Given the description of an element on the screen output the (x, y) to click on. 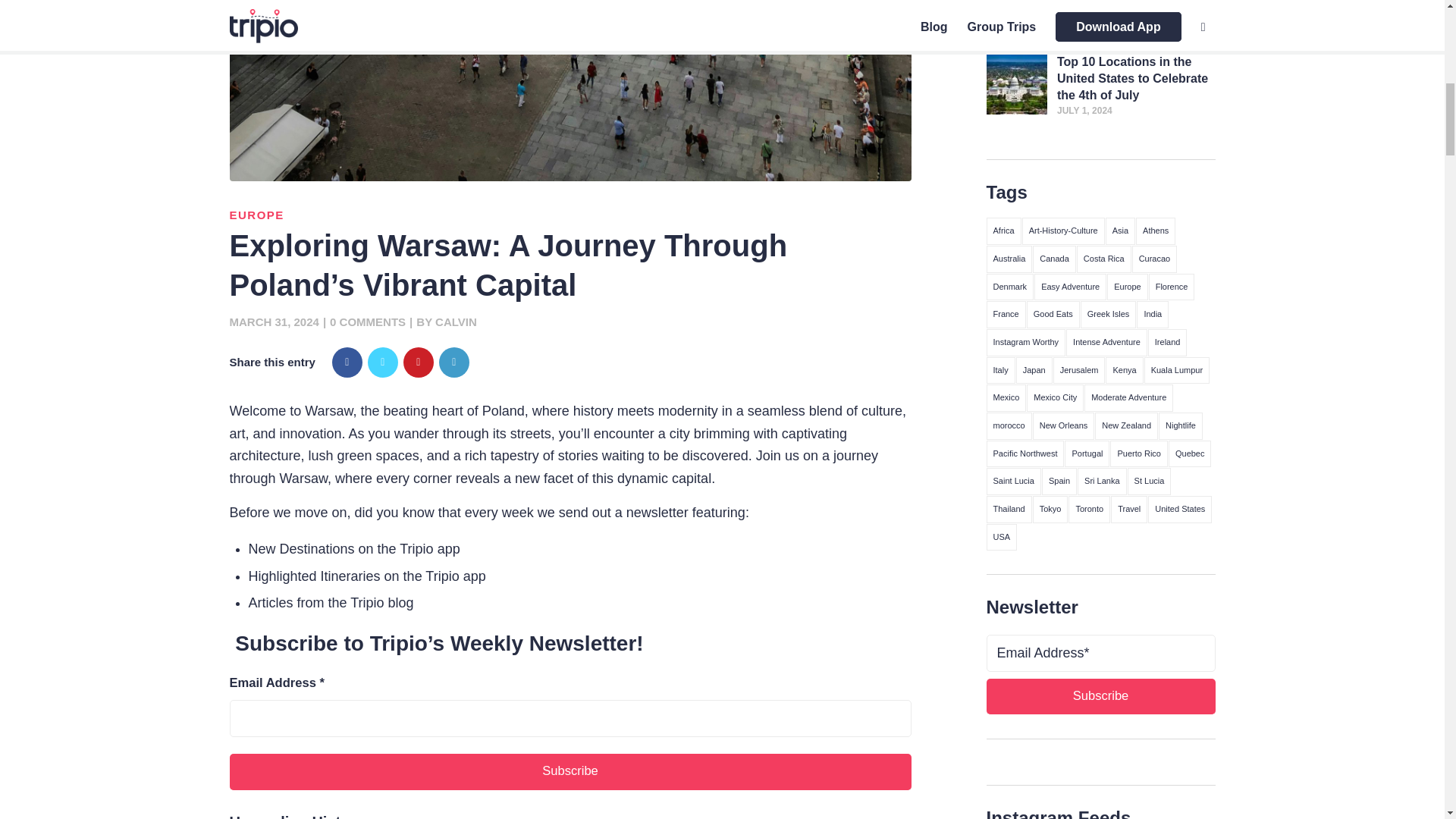
EUROPE (255, 214)
Unraveling History (296, 816)
Photo by Victor Malyushev on Unsplash (569, 90)
Subscribe (1099, 696)
Subscribe (569, 771)
Subscribe (569, 771)
CALVIN (456, 321)
0 COMMENTS (368, 321)
Posts by Calvin (456, 321)
